Given the description of an element on the screen output the (x, y) to click on. 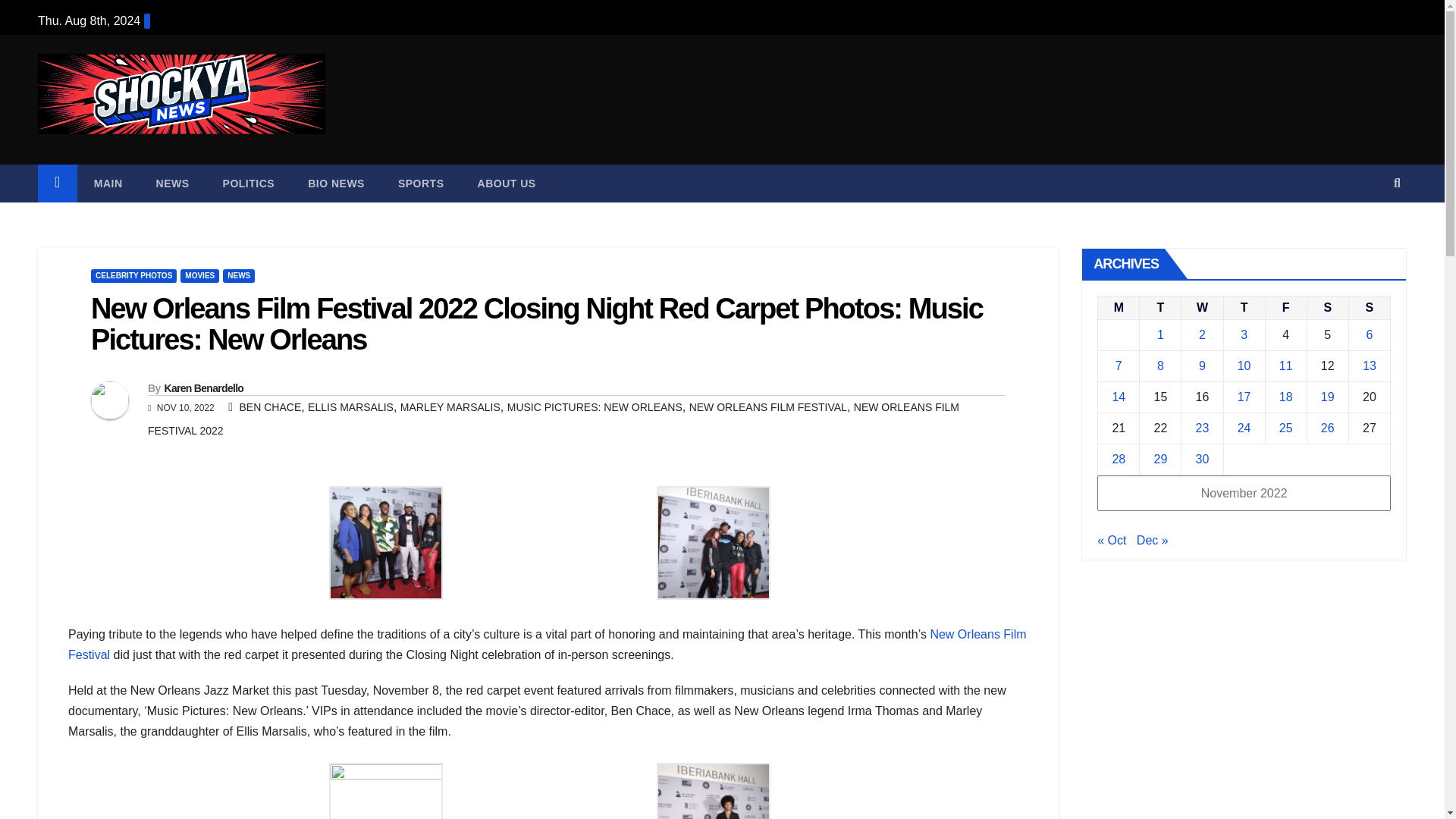
BIO NEWS (336, 183)
CELEBRITY PHOTOS (133, 275)
Saturday (1327, 307)
ELLIS MARSALIS (350, 407)
Wednesday (1201, 307)
MARLEY MARSALIS (450, 407)
NEW ORLEANS FILM FESTIVAL (767, 407)
NEW ORLEANS FILM FESTIVAL 2022 (553, 418)
ABOUT US (507, 183)
